Given the description of an element on the screen output the (x, y) to click on. 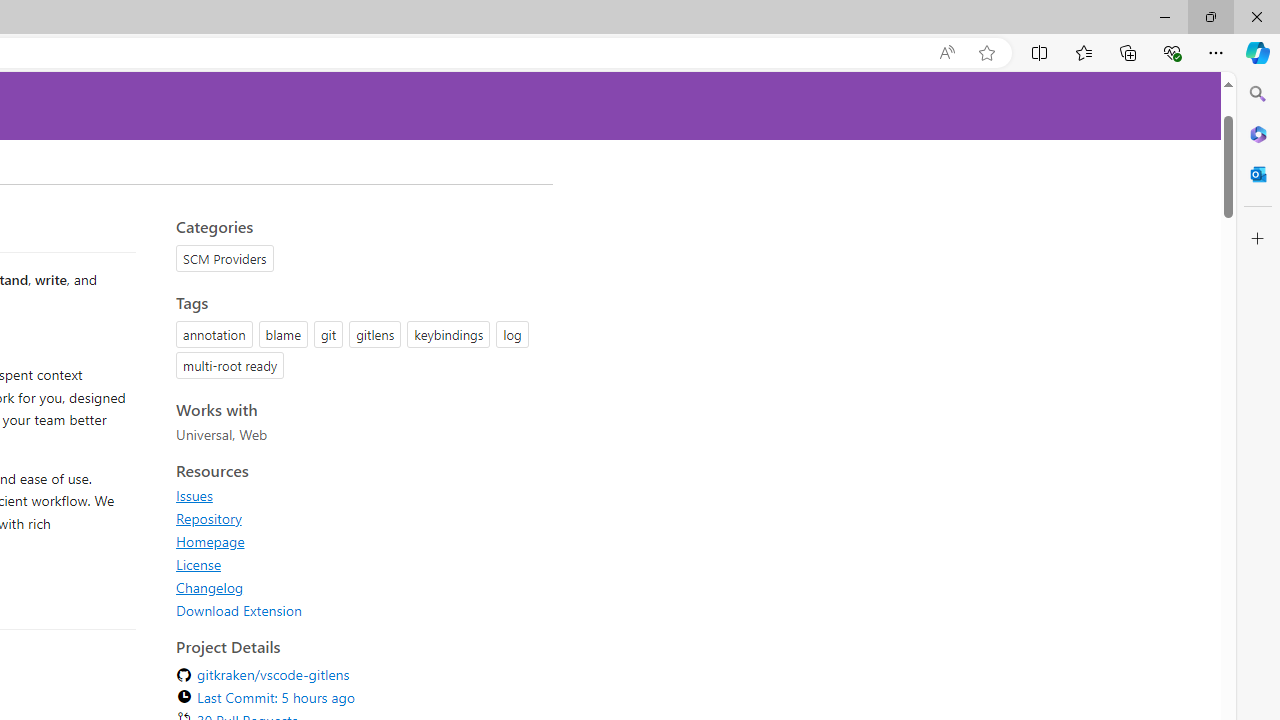
Issues (194, 495)
Changelog (358, 587)
